Given the description of an element on the screen output the (x, y) to click on. 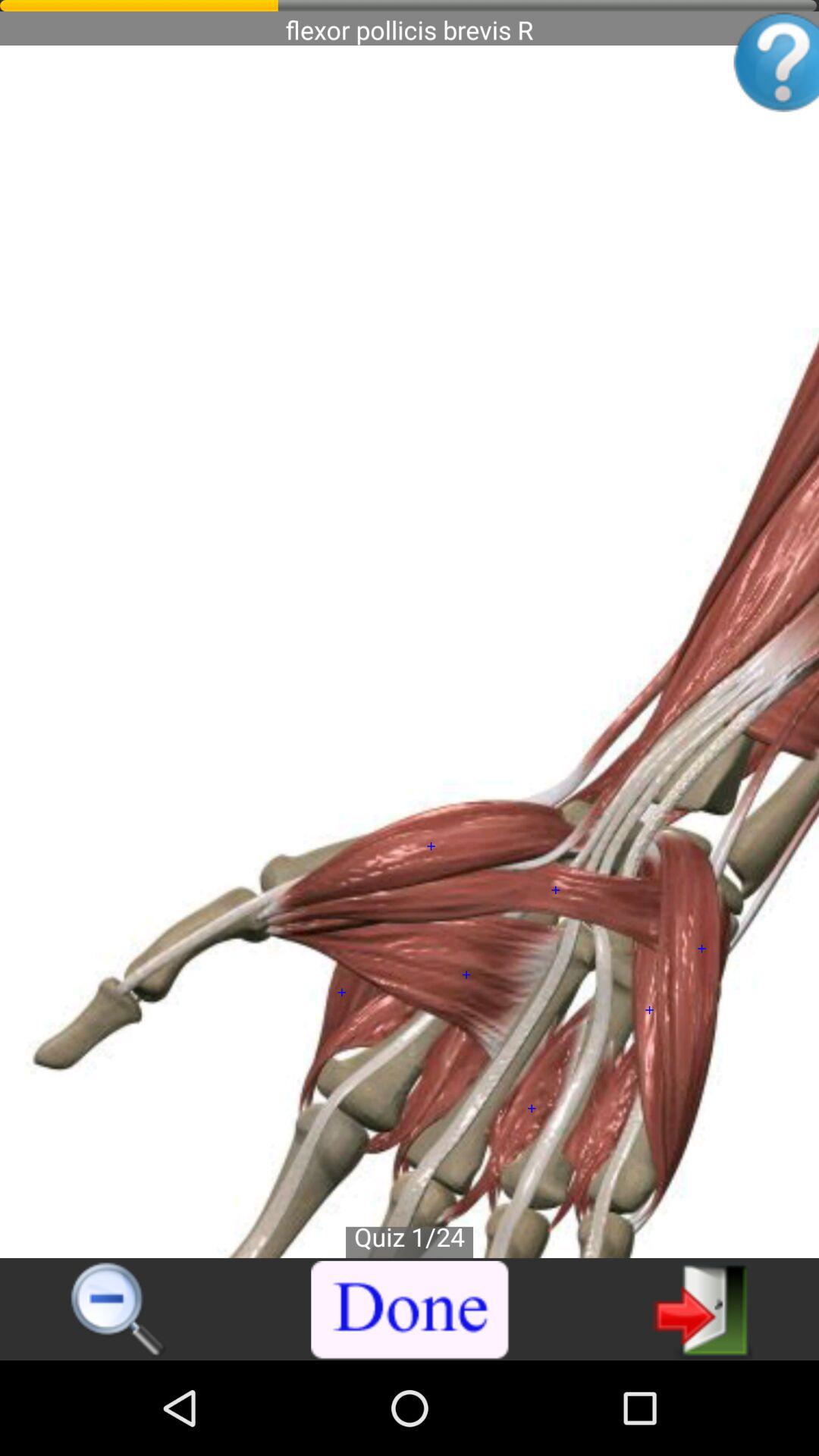
click done (410, 1310)
